Given the description of an element on the screen output the (x, y) to click on. 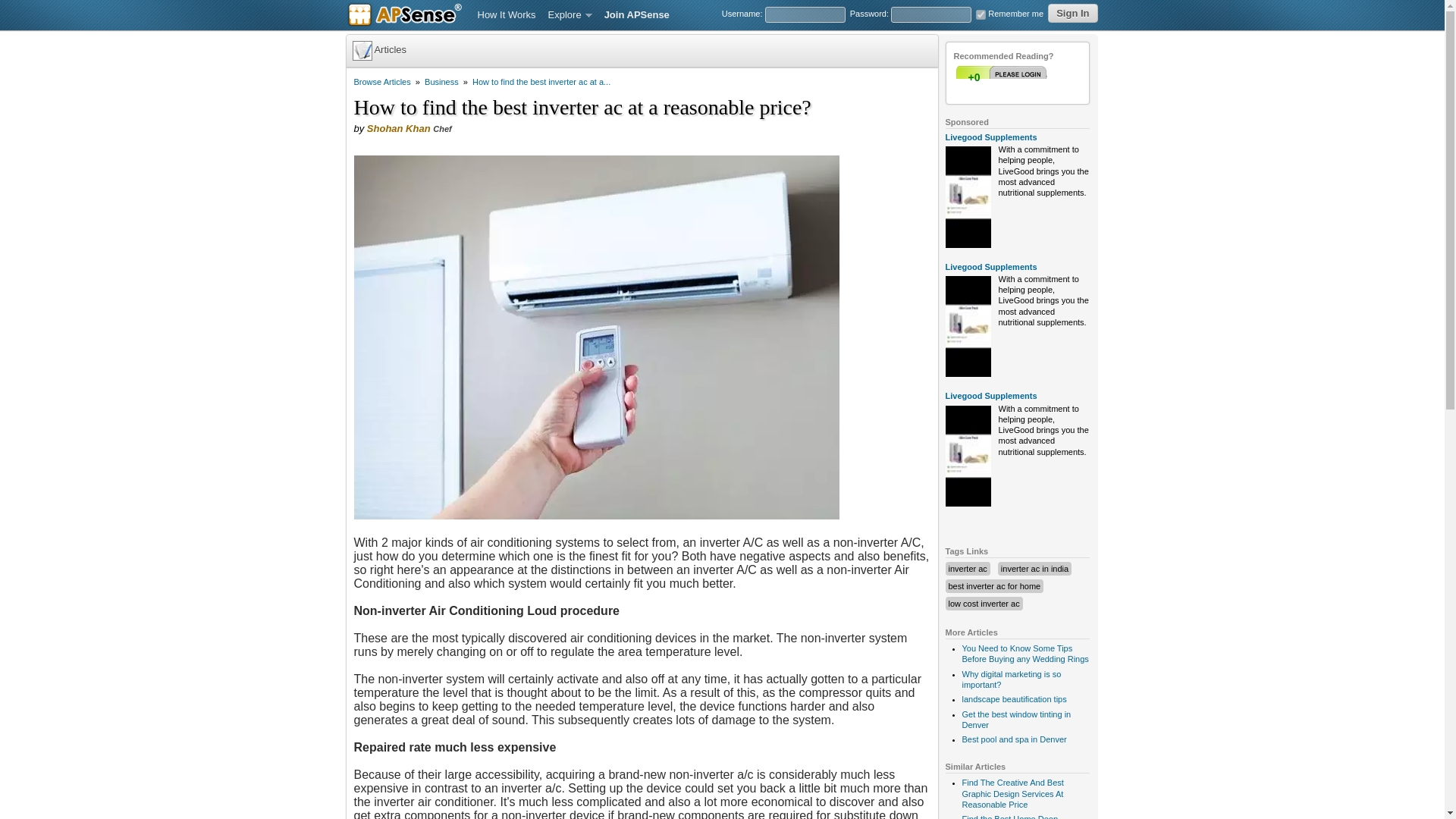
You Need to Know Some Tips Before Buying any Wedding Rings (1023, 653)
Browse Articles (381, 81)
landscape beautification tips (1012, 698)
1 (1002, 77)
Explore (569, 15)
inverter ac in india (1034, 568)
Business (441, 81)
-1 (1031, 77)
inverter ac (967, 568)
Shohan Khan (398, 128)
